Given the description of an element on the screen output the (x, y) to click on. 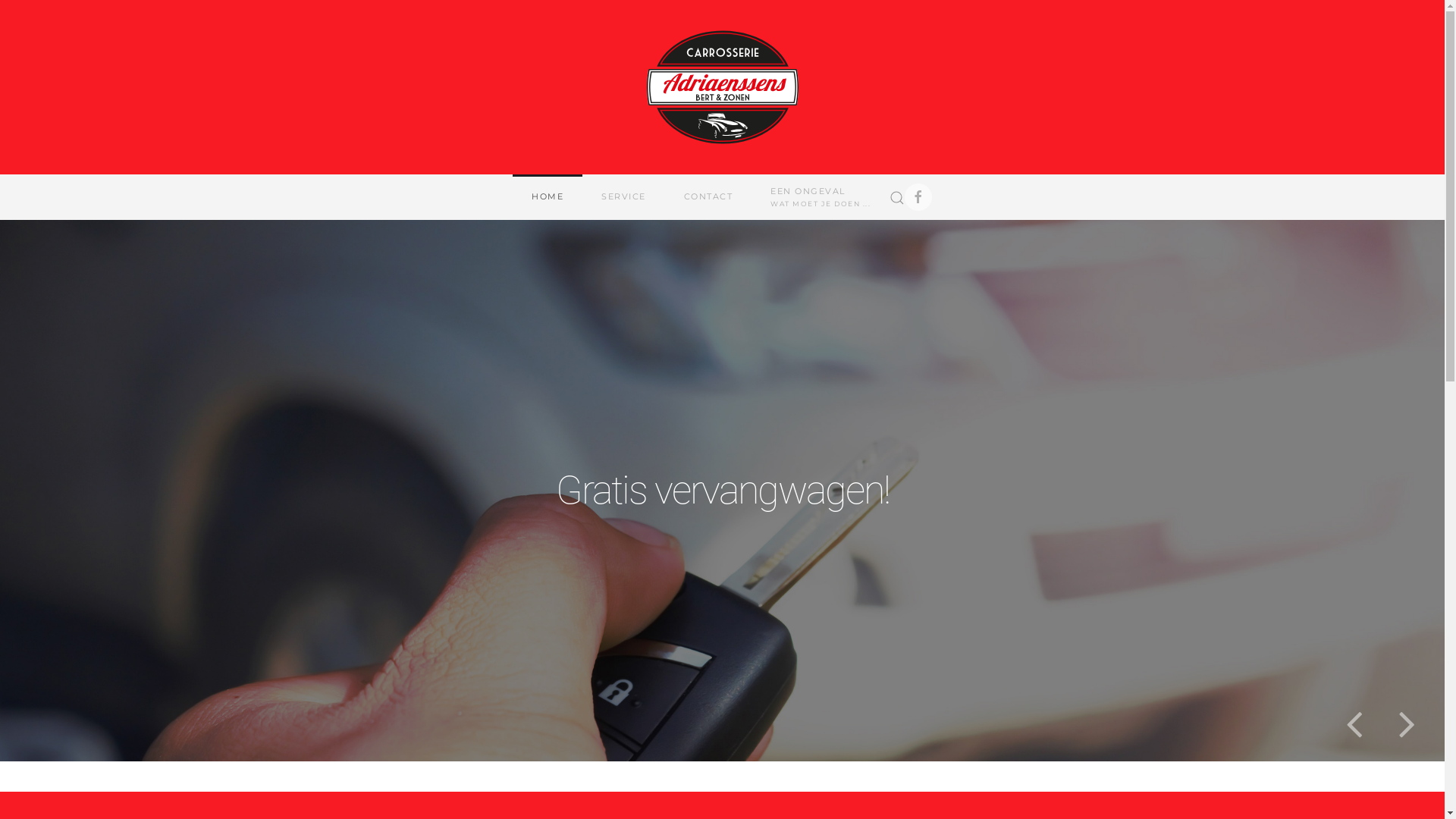
EEN ONGEVAL
WAT MOET JE DOEN ... Element type: text (820, 196)
CONTACT Element type: text (707, 196)
SERVICE Element type: text (623, 196)
HOME Element type: text (547, 196)
